Given the description of an element on the screen output the (x, y) to click on. 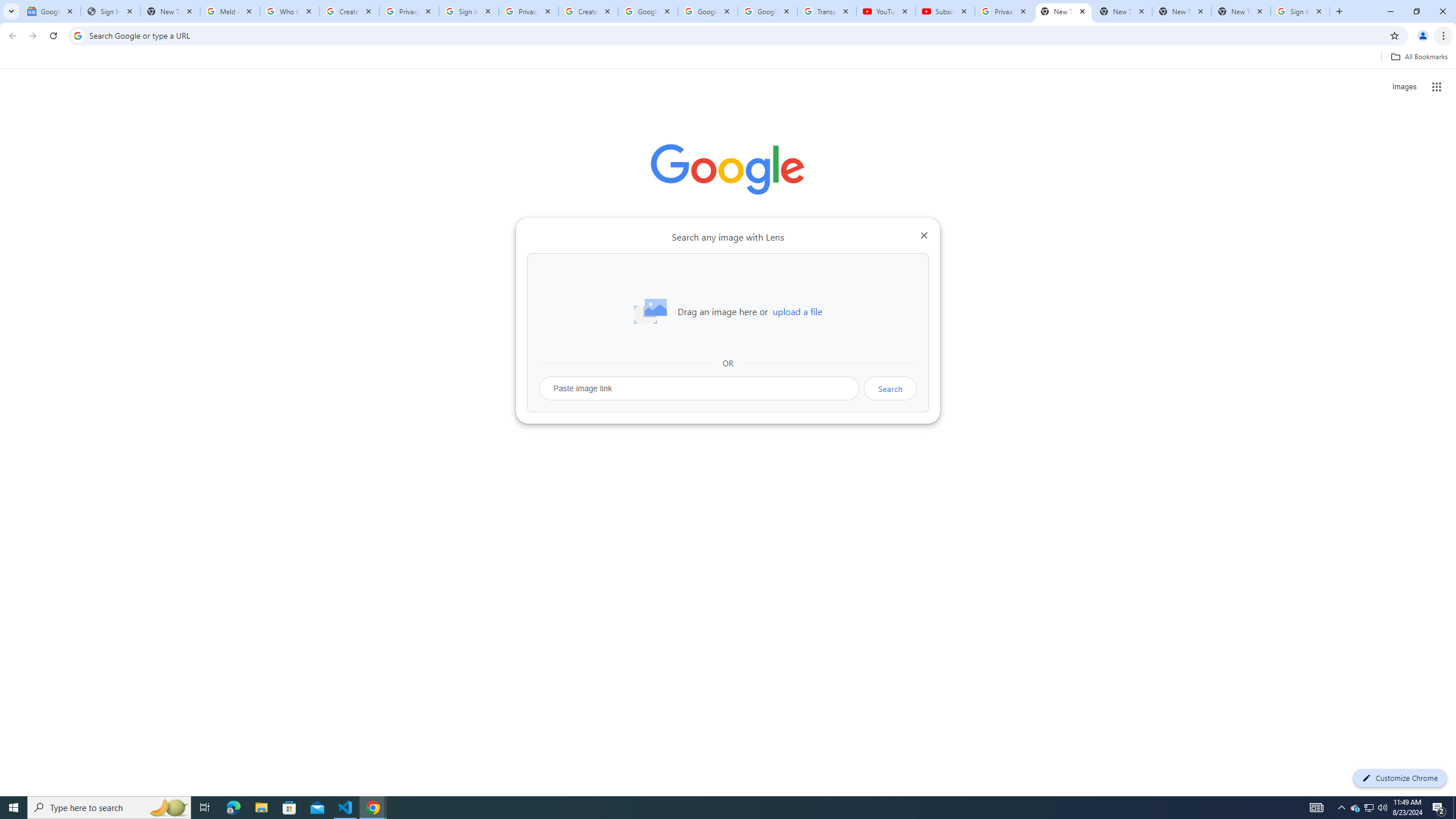
Paste image link (699, 388)
Subscriptions - YouTube (944, 11)
Google News (50, 11)
upload a file (796, 311)
